Given the description of an element on the screen output the (x, y) to click on. 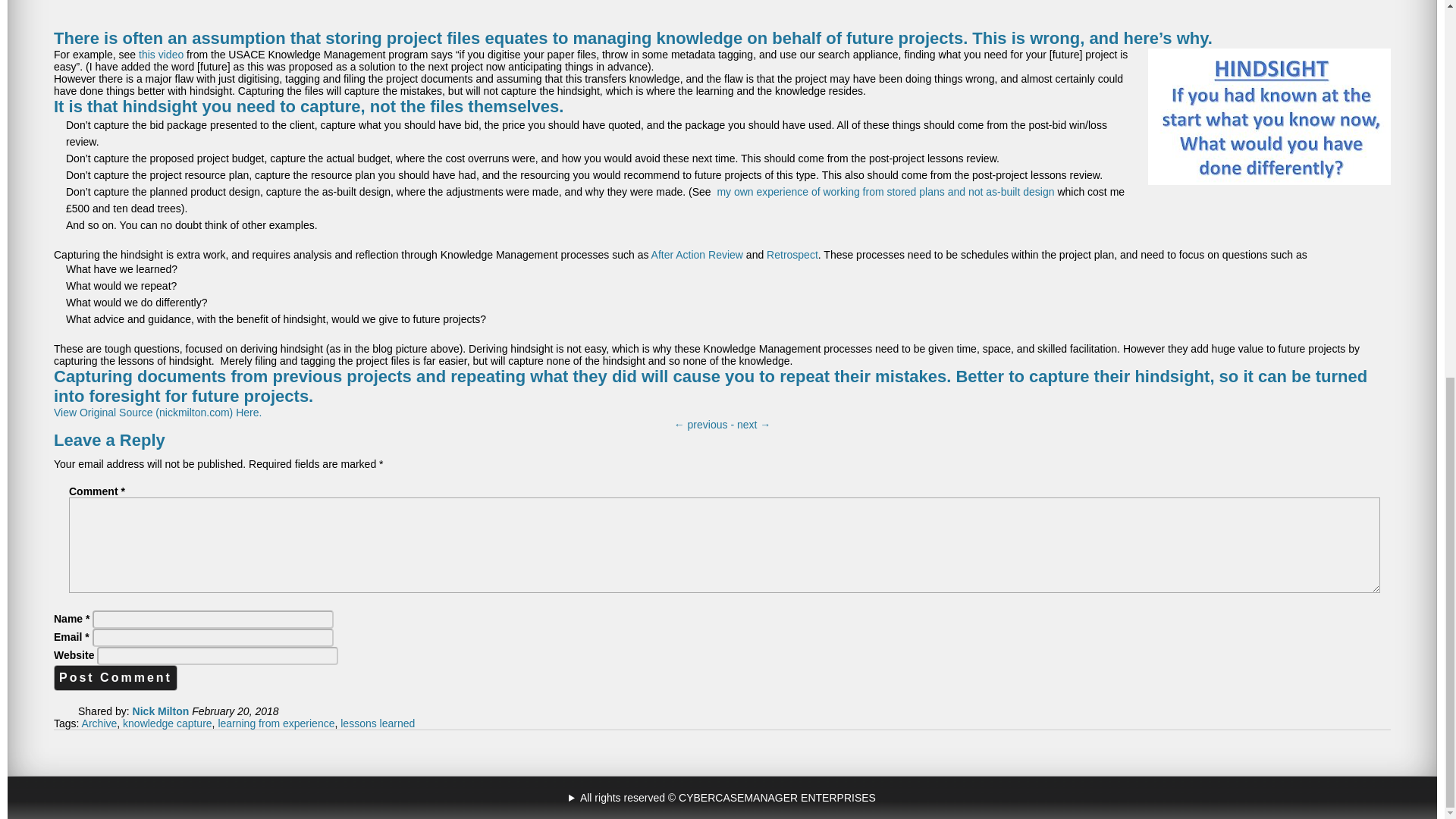
After Action Review (697, 254)
Post Comment (115, 678)
Nick Milton (160, 711)
this video (160, 54)
Retrospect (792, 254)
knowledge capture (167, 723)
learning from experience (275, 723)
Post Comment (115, 678)
lessons learned (377, 723)
Archive (99, 723)
